Given the description of an element on the screen output the (x, y) to click on. 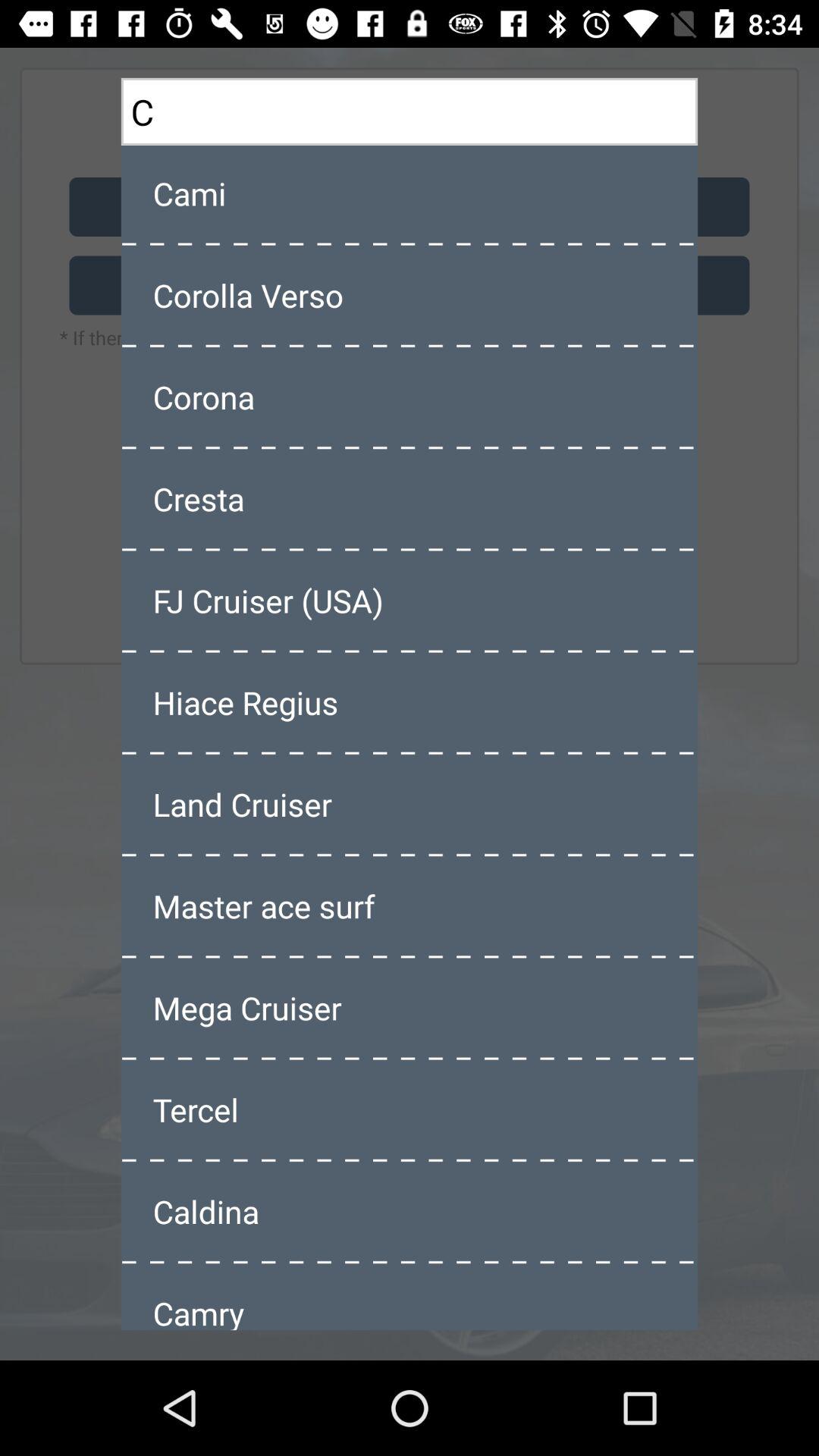
swipe until camry (409, 1297)
